Given the description of an element on the screen output the (x, y) to click on. 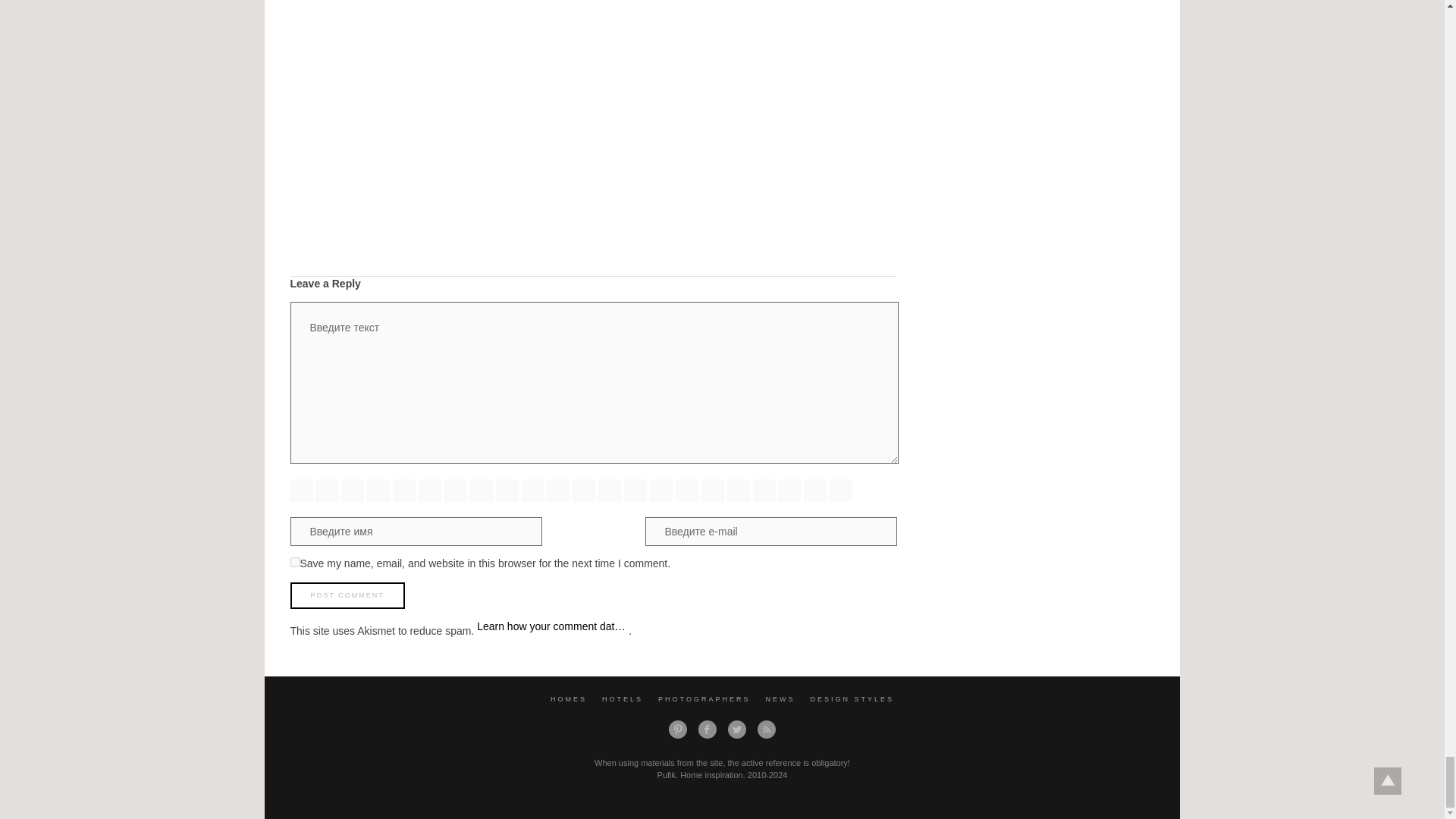
Post Comment (346, 595)
yes (294, 562)
